Given the description of an element on the screen output the (x, y) to click on. 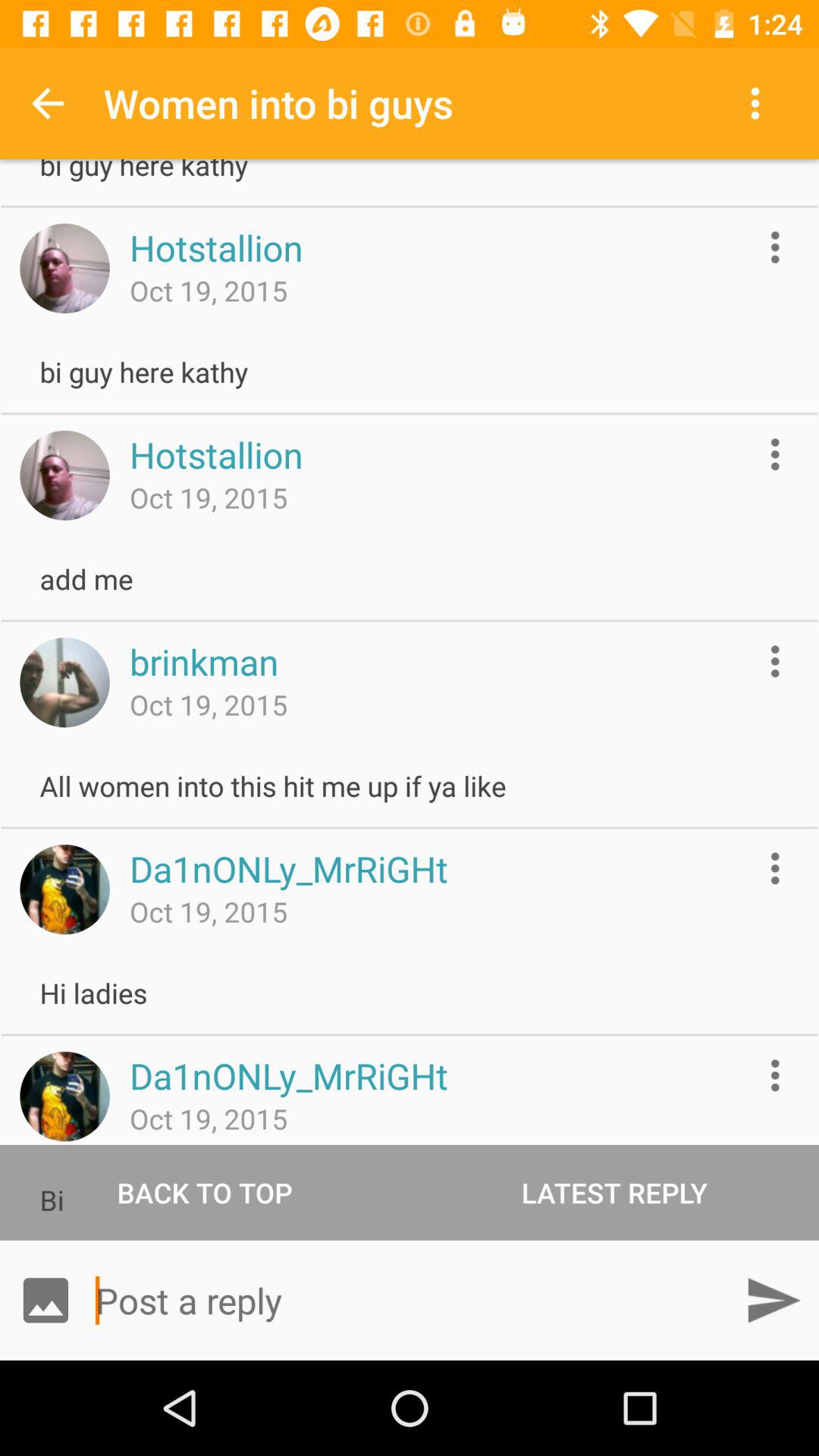
scroll to the back to top (204, 1192)
